Given the description of an element on the screen output the (x, y) to click on. 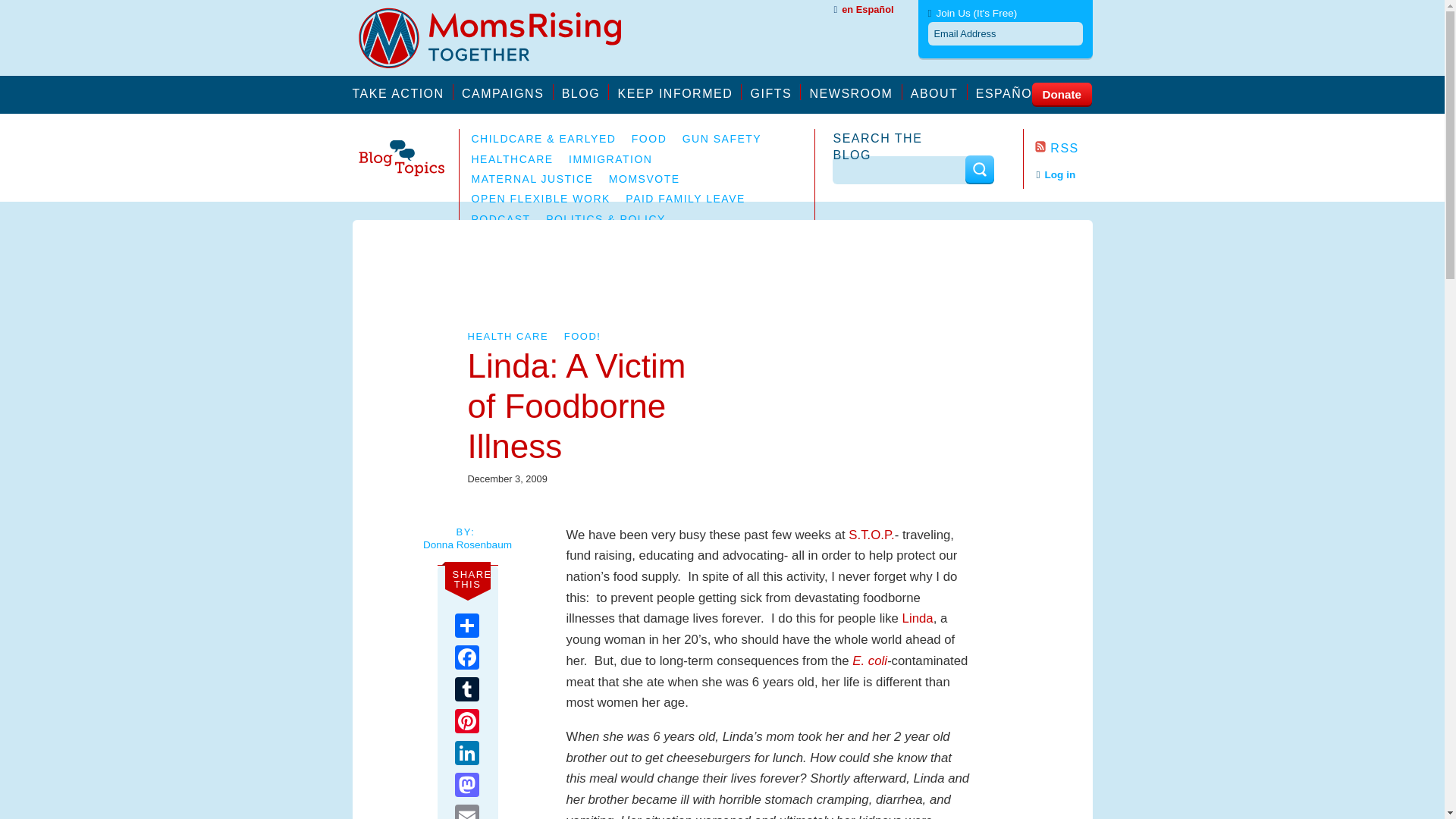
OPEN FLEXIBLE WORK (540, 198)
Search (978, 169)
FOOD (648, 138)
HEALTHCARE (512, 159)
BLOG (586, 91)
FOOD! (582, 336)
Skip to main content (55, 8)
KEEP INFORMED (679, 91)
IMMIGRATION (610, 159)
Email Address (1005, 33)
Log in (1055, 174)
Sign up (1005, 188)
NEWSROOM (855, 91)
